Given the description of an element on the screen output the (x, y) to click on. 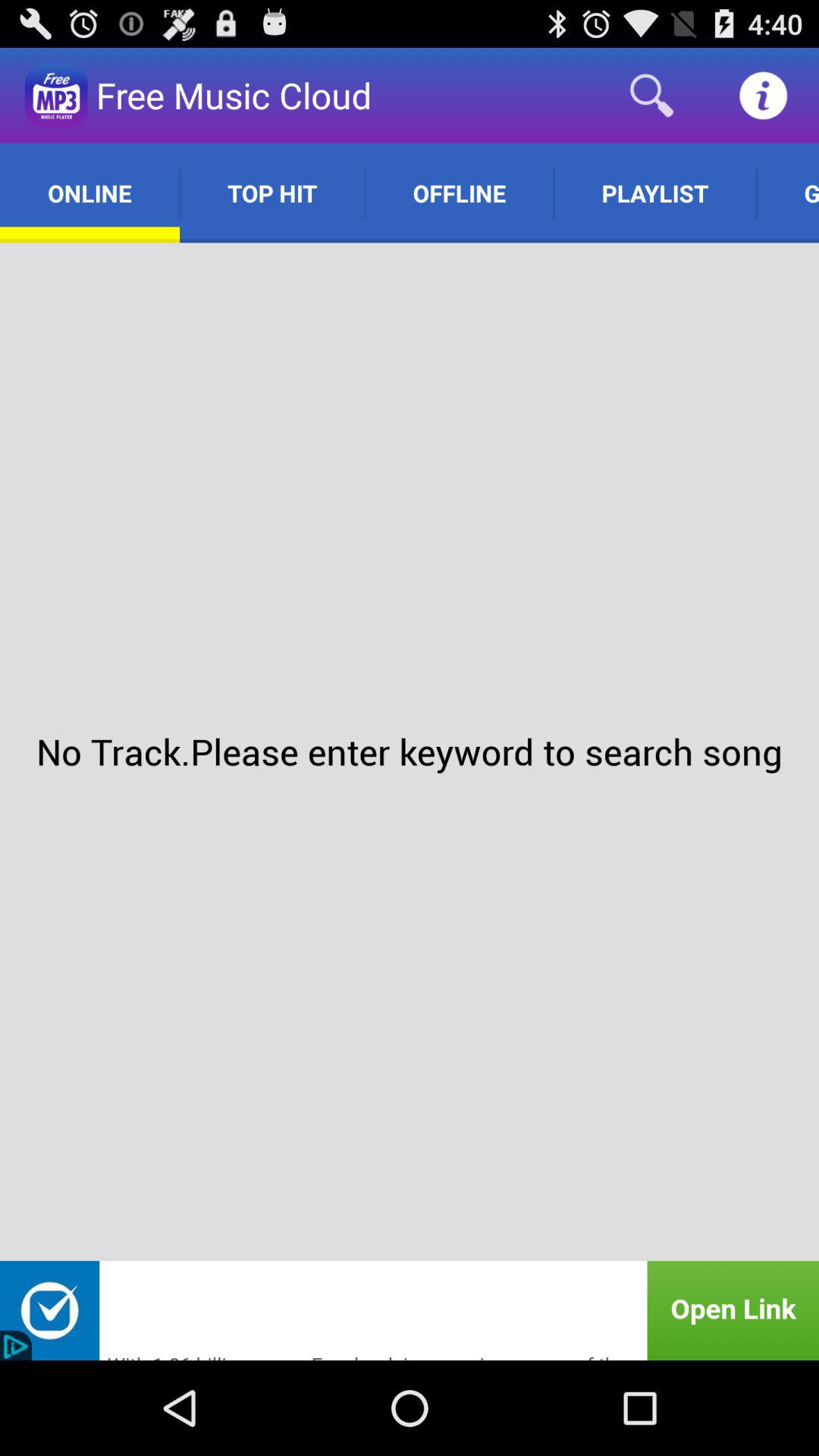
select the search icon (651, 95)
